Given the description of an element on the screen output the (x, y) to click on. 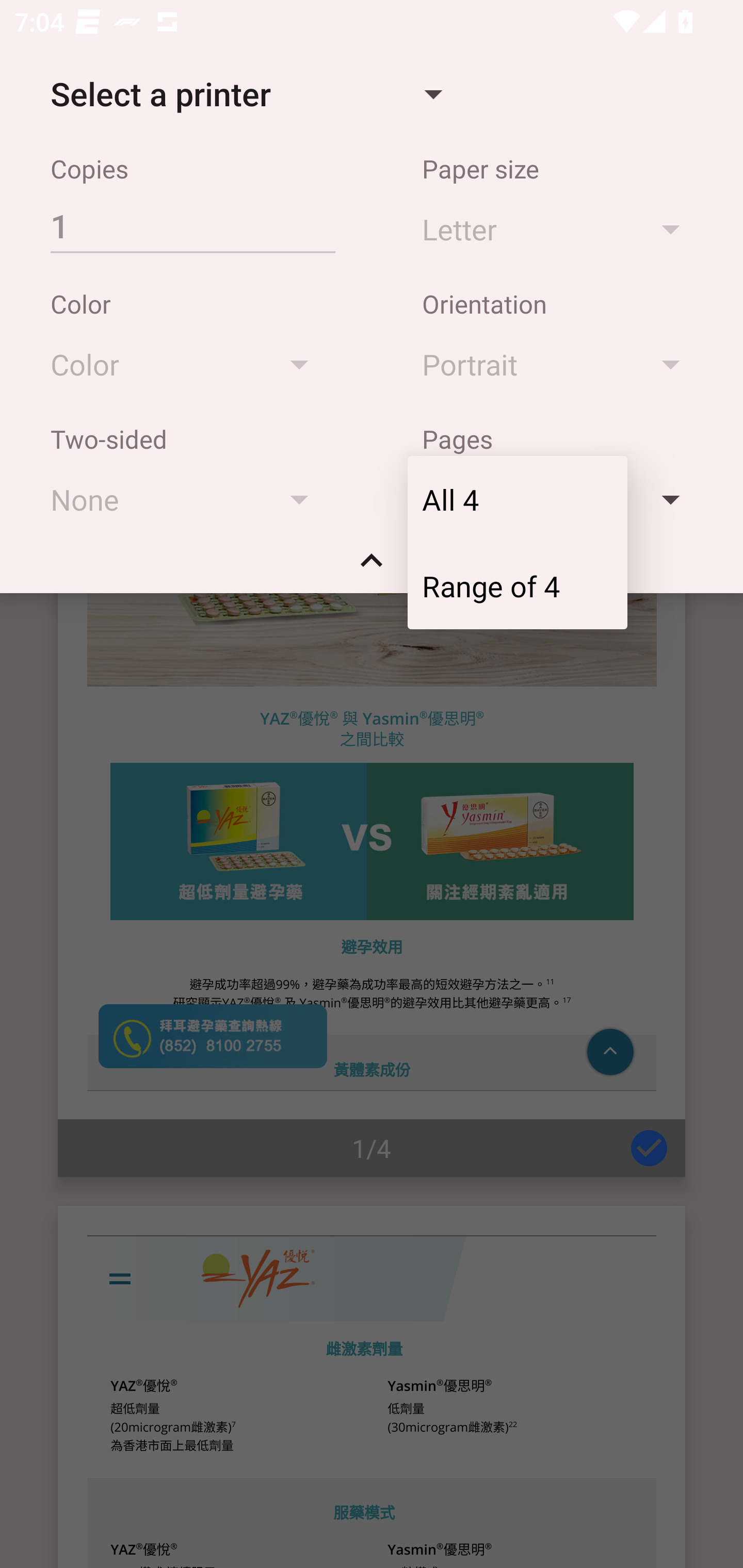
All 4 (517, 499)
Range of 4 (517, 585)
